Given the description of an element on the screen output the (x, y) to click on. 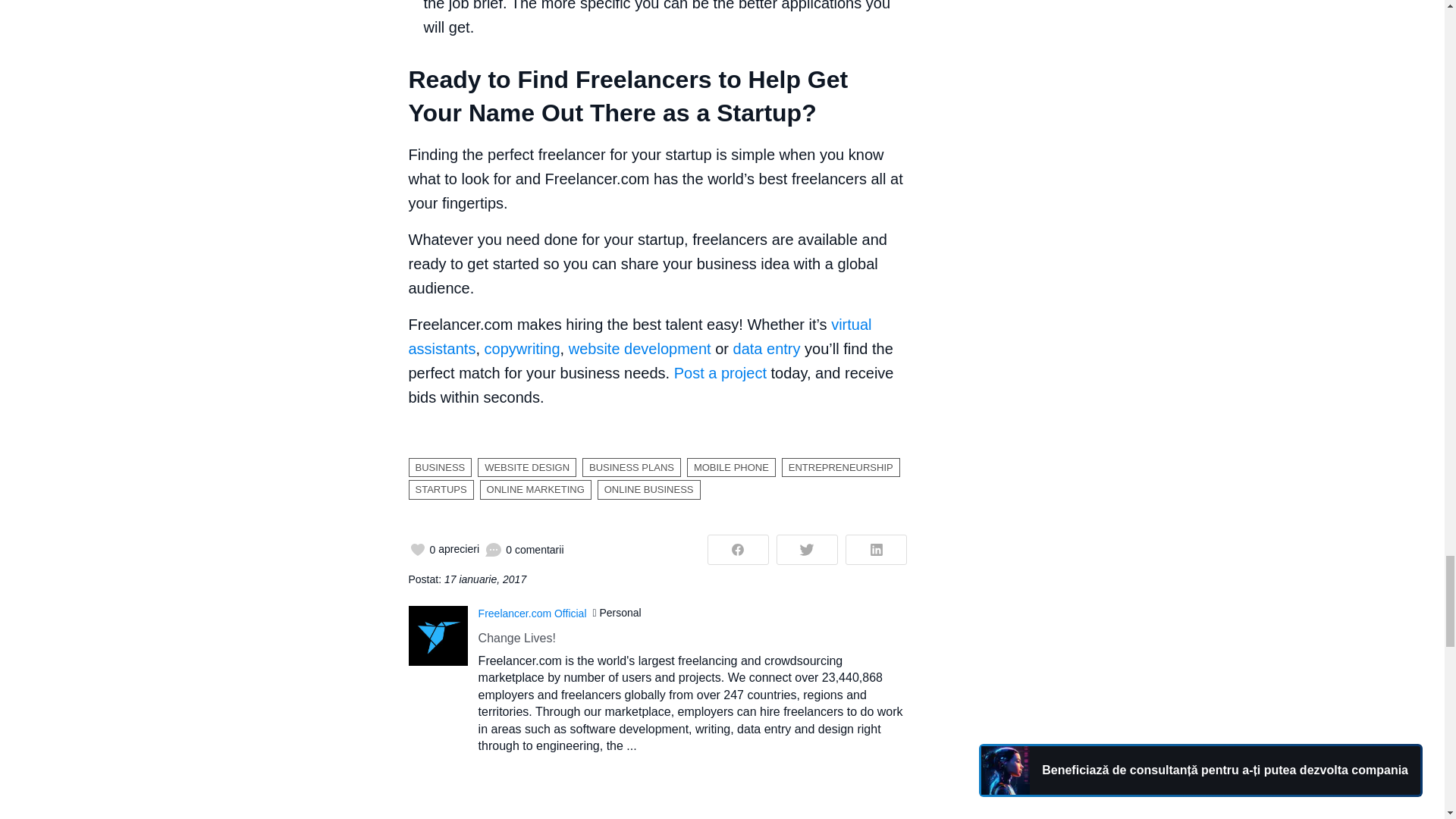
Voturile utilizatorilor (443, 549)
